Given the description of an element on the screen output the (x, y) to click on. 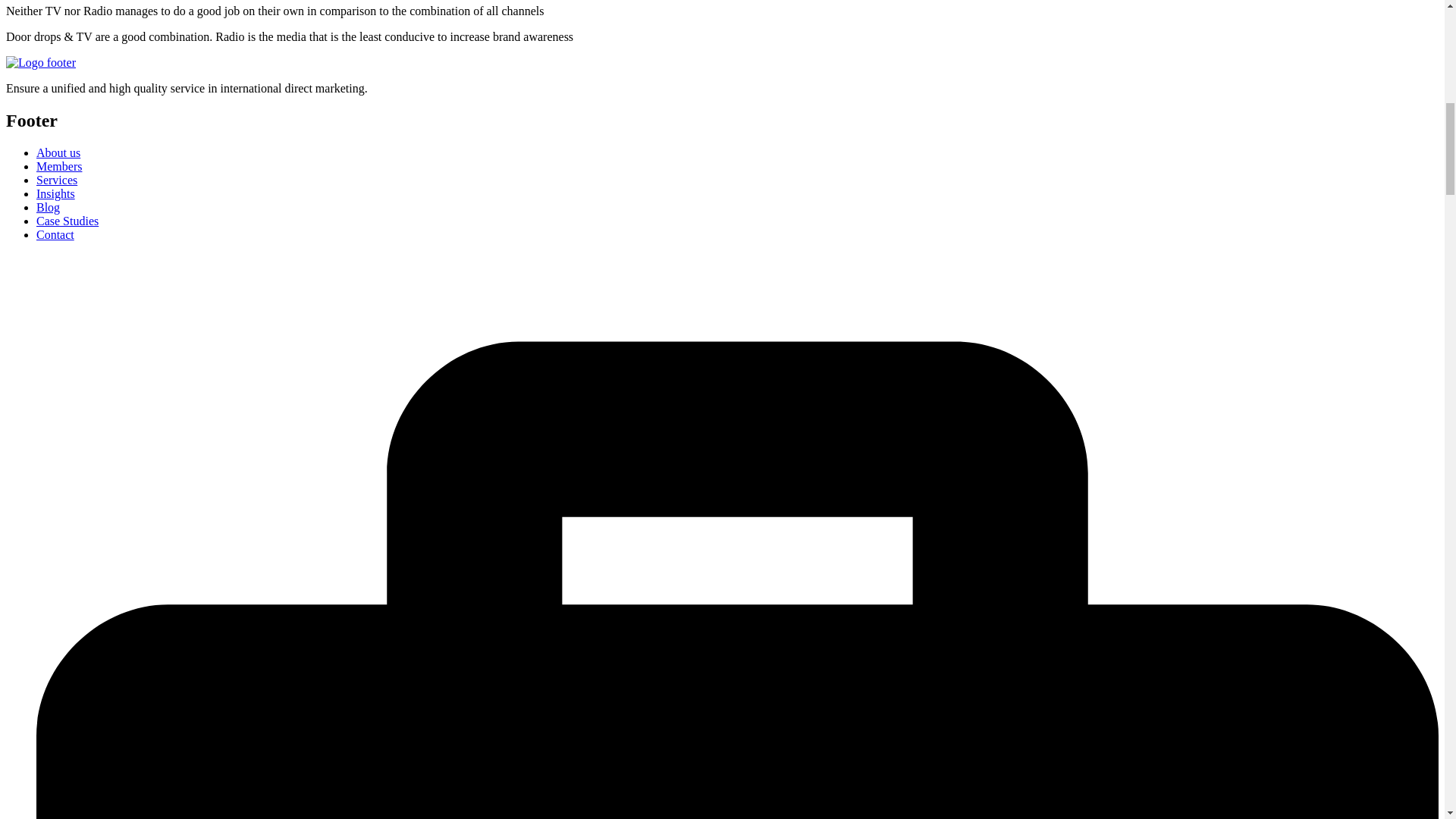
Members (58, 165)
Insights (55, 193)
About us (58, 152)
Case Studies (67, 220)
Contact (55, 234)
Services (56, 179)
Blog (47, 206)
